Given the description of an element on the screen output the (x, y) to click on. 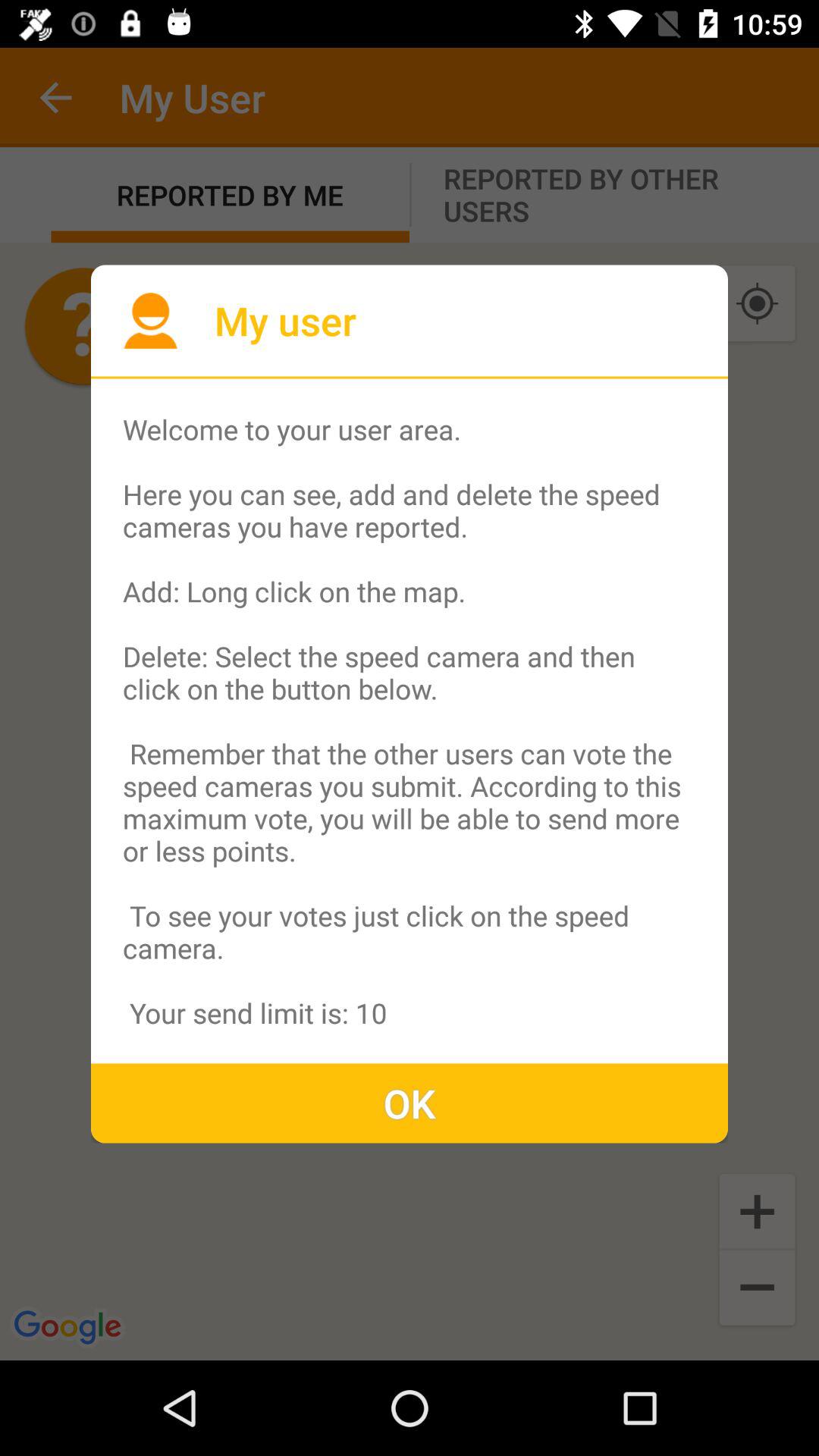
click the ok at the bottom (409, 1103)
